Given the description of an element on the screen output the (x, y) to click on. 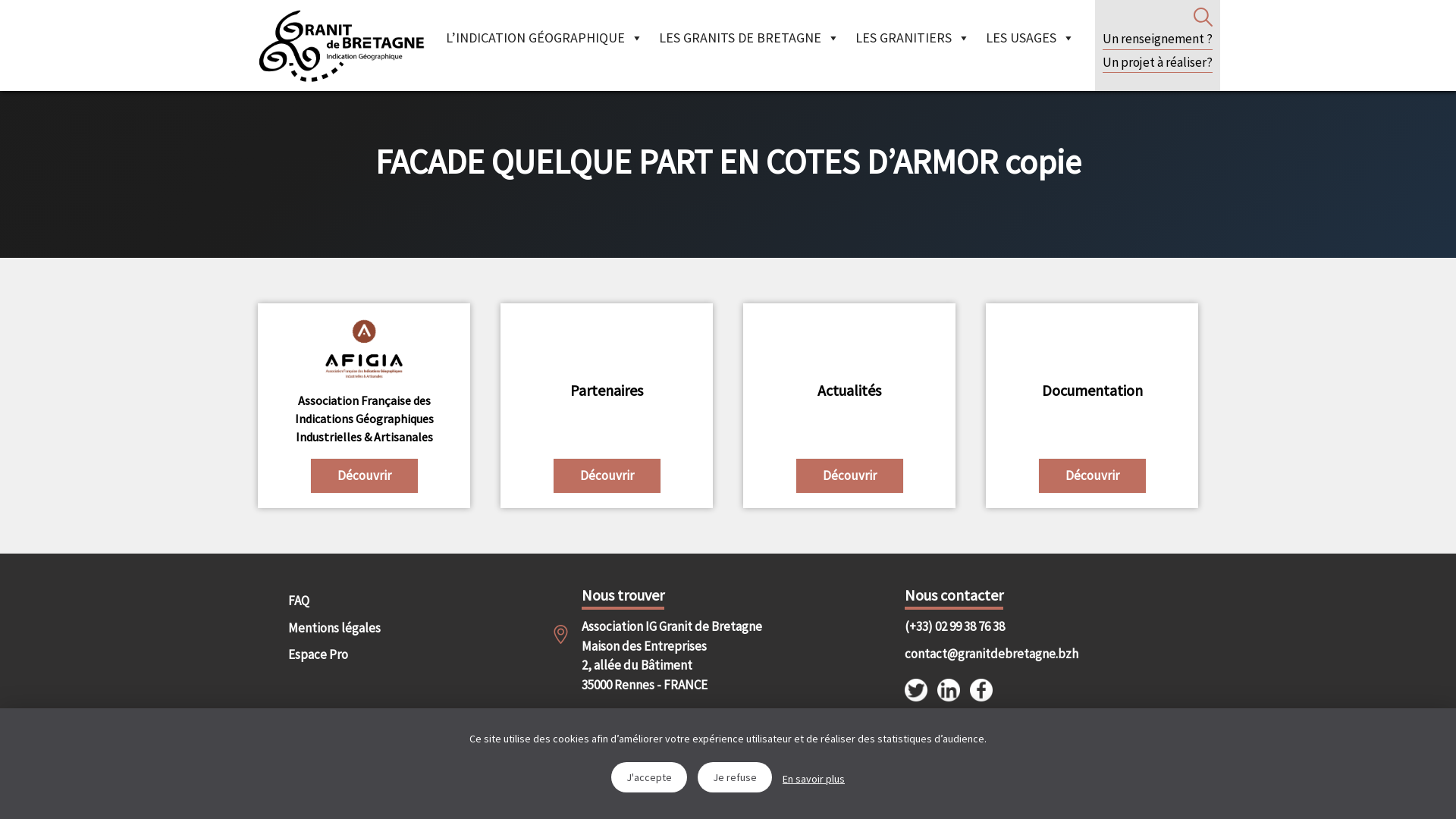
J'accepte Element type: text (649, 777)
IGGB Element type: text (340, 45)
LES USAGES Element type: text (1030, 37)
En savoir plus Element type: text (813, 779)
contact@granitdebretagne.bzh Element type: text (977, 654)
Je refuse Element type: text (734, 777)
FAQ Element type: text (353, 601)
LES GRANITS DE BRETAGNE Element type: text (749, 37)
Un renseignement ? Element type: text (1157, 39)
(+33) 02 99 38 76 38 Element type: text (977, 627)
Espace Pro Element type: text (353, 655)
LES GRANITIERS Element type: text (912, 37)
